Given the description of an element on the screen output the (x, y) to click on. 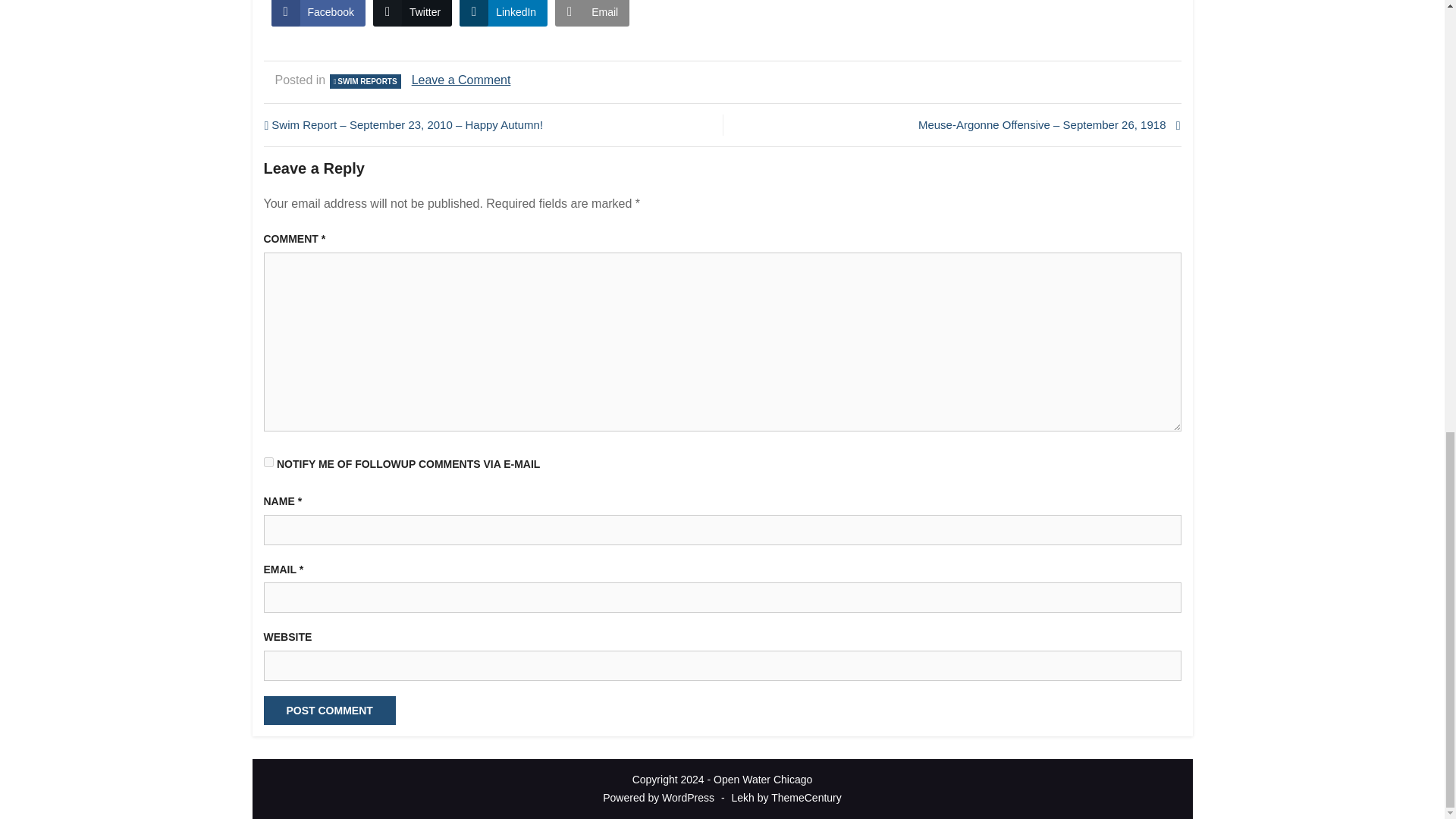
Lekh by ThemeCentury (785, 797)
Post Comment (329, 710)
LinkedIn (503, 13)
Post Comment (329, 710)
Twitter (411, 13)
SWIM REPORTS (365, 81)
Facebook (317, 13)
Powered by WordPress (658, 797)
Email (591, 13)
